Given the description of an element on the screen output the (x, y) to click on. 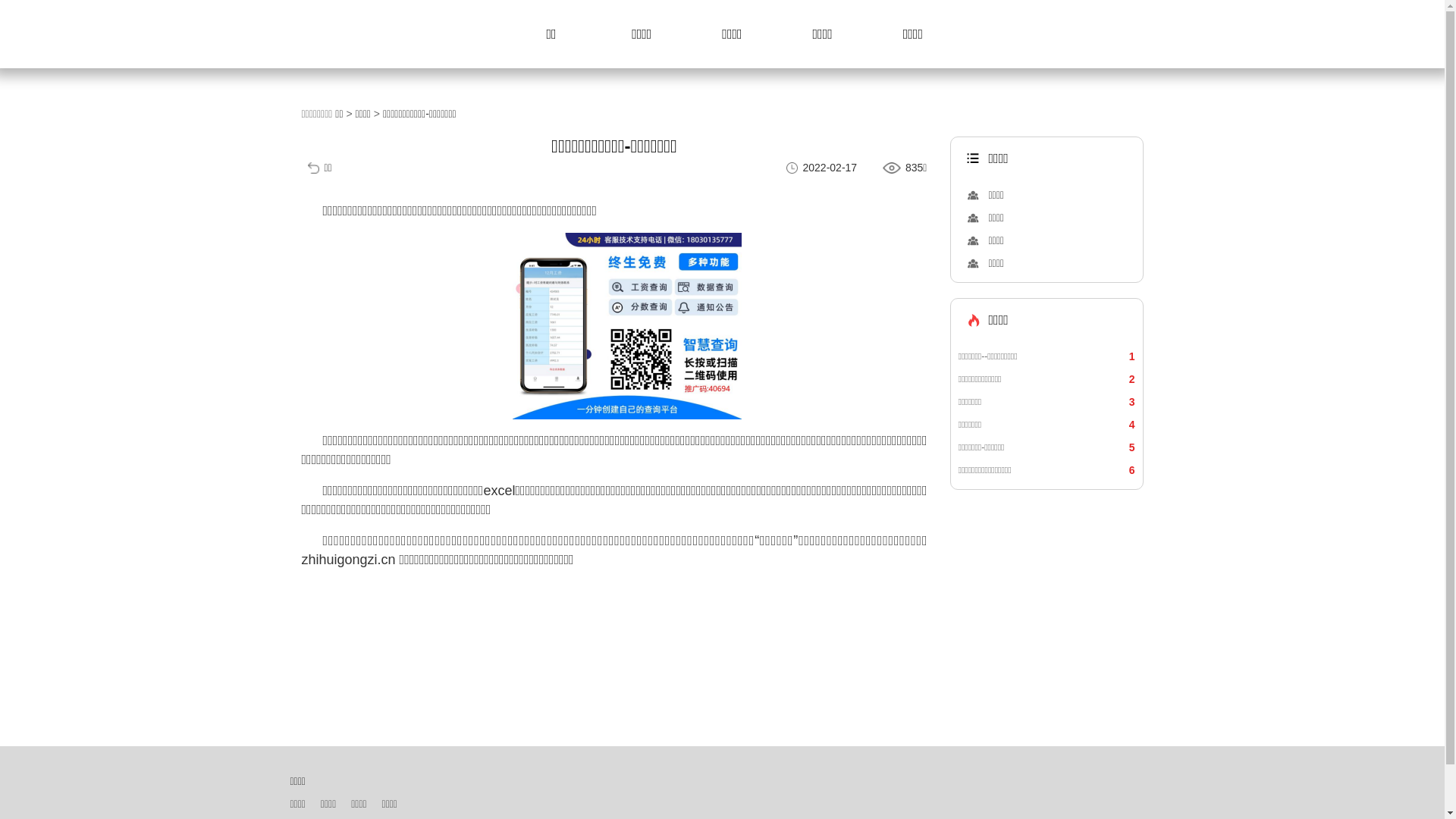
1639028629423005.png Element type: hover (626, 326)
